Given the description of an element on the screen output the (x, y) to click on. 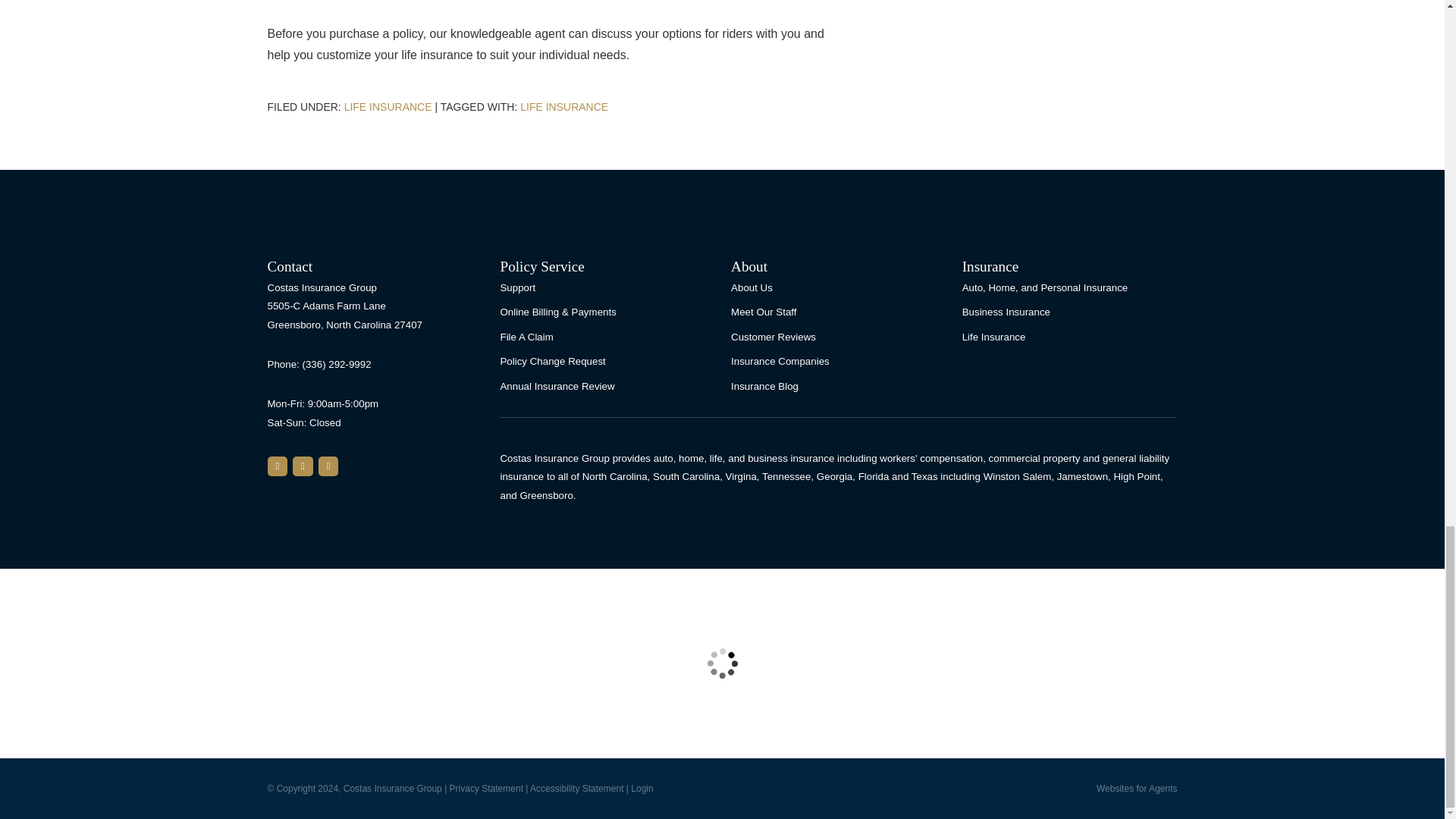
Life Insurance (387, 106)
Life Insurance (563, 106)
Yelp (302, 466)
Google Maps (276, 466)
Facebook (328, 466)
